Given the description of an element on the screen output the (x, y) to click on. 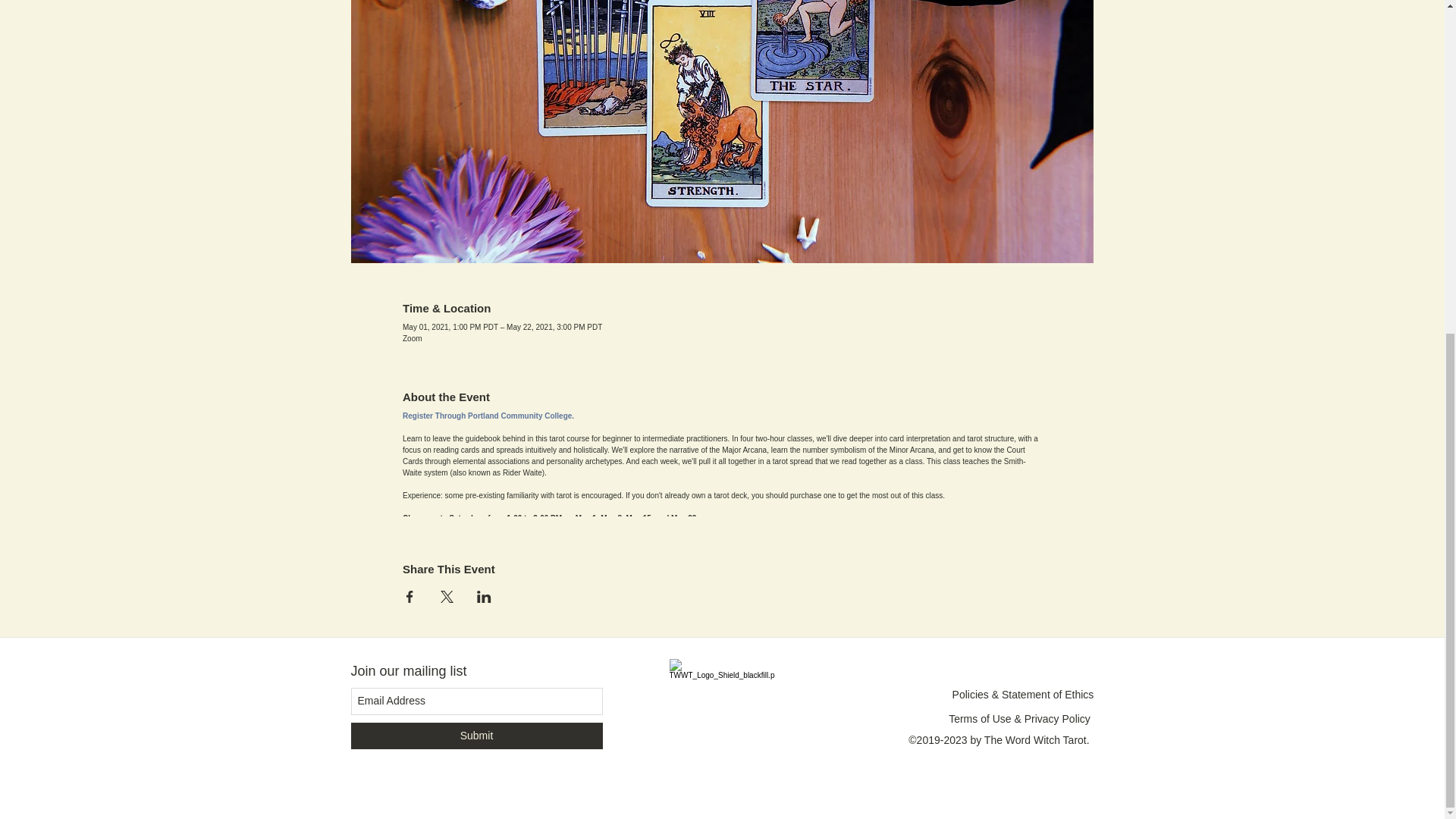
Submit (476, 735)
Register Through Portland Community College. (488, 415)
